Given the description of an element on the screen output the (x, y) to click on. 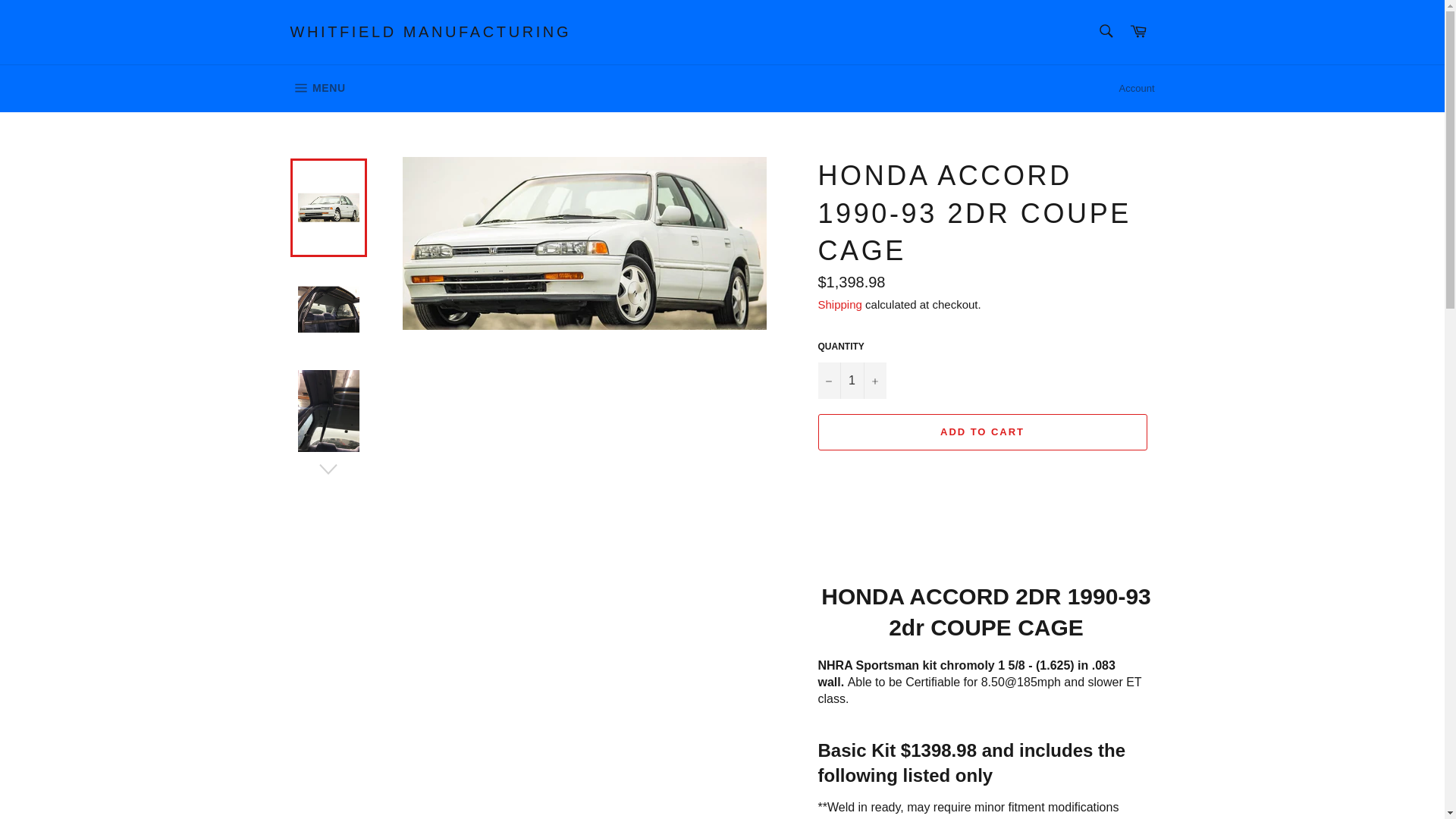
1 (850, 380)
